Given the description of an element on the screen output the (x, y) to click on. 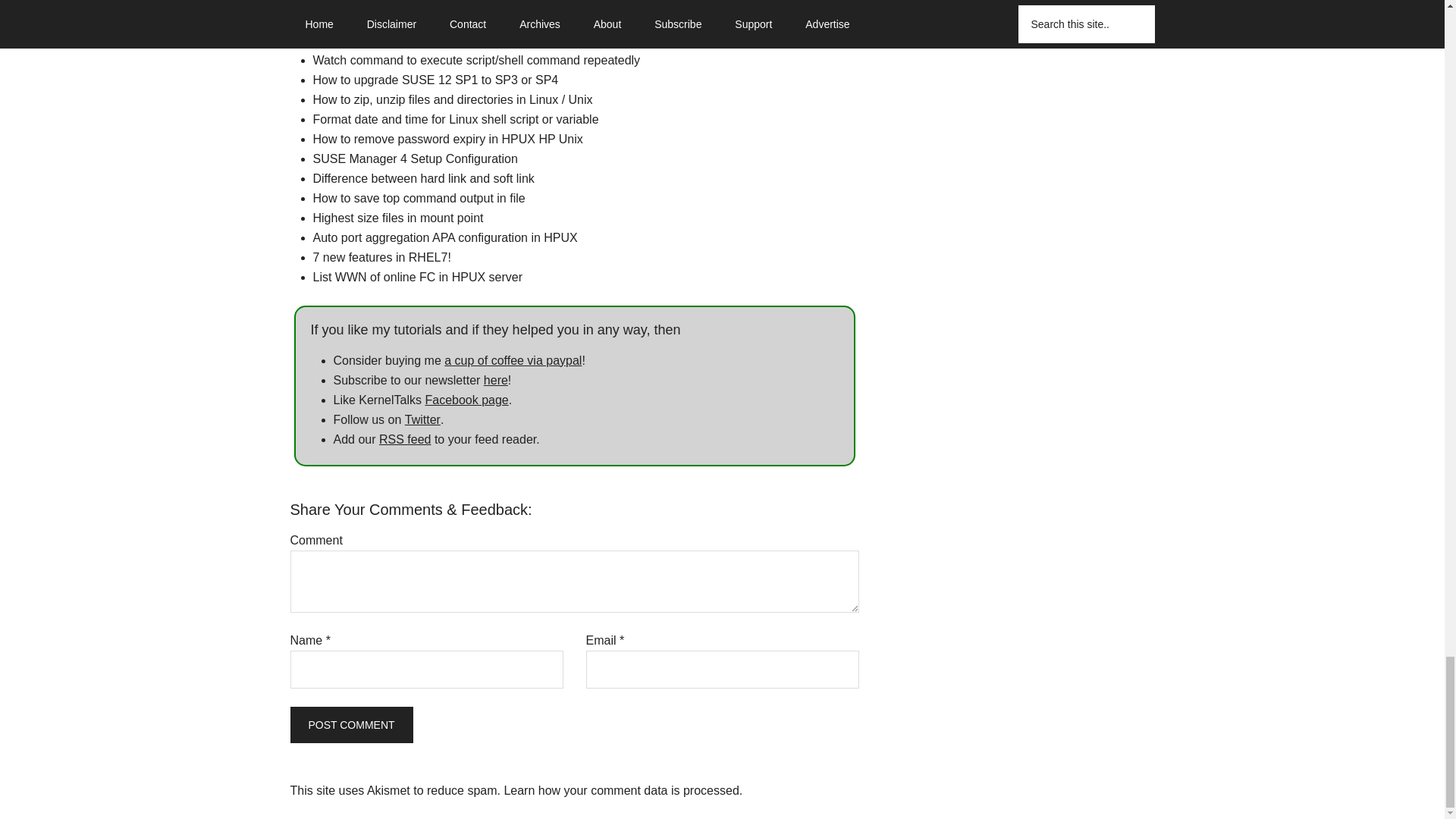
Link to Difference between hard link and soft link (423, 178)
Post Comment (350, 723)
Link to How to remove password expiry in HPUX HP Unix (447, 138)
Link to SUSE Manager 4 Setup Configuration (414, 158)
Link to How to upgrade SUSE 12 SP1 to SP3 or SP4 (435, 79)
